Given the description of an element on the screen output the (x, y) to click on. 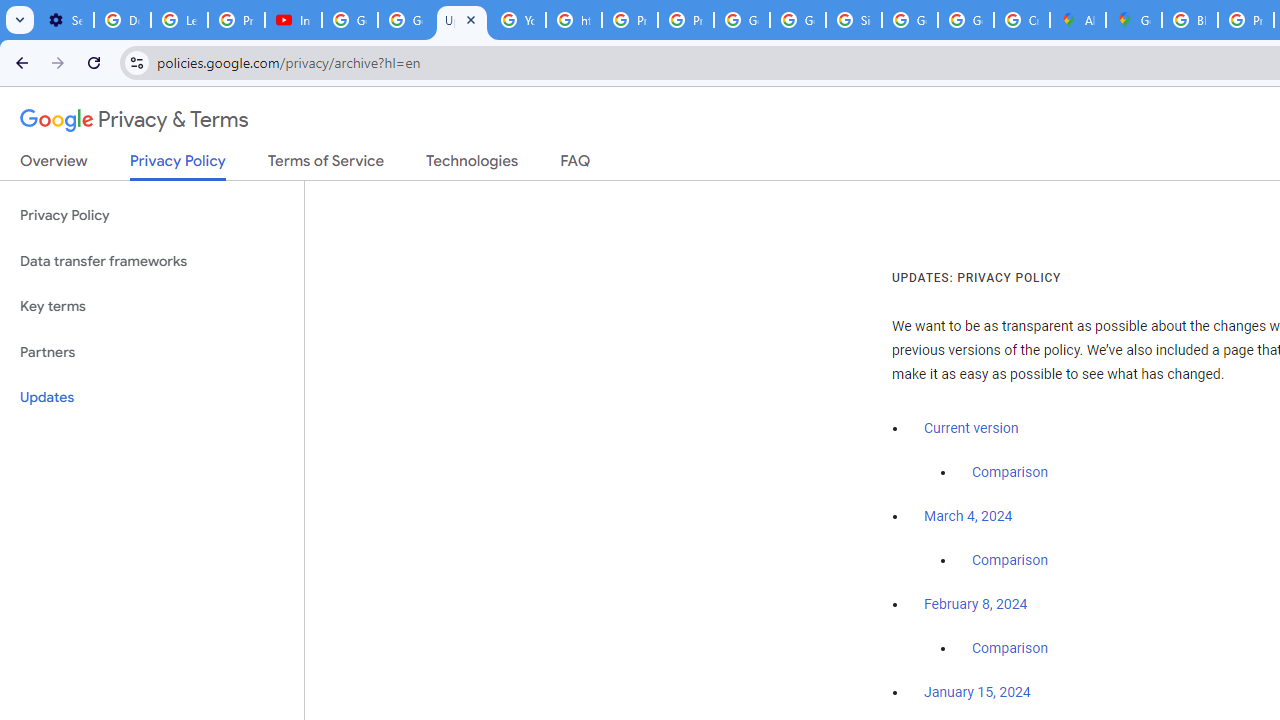
Blogger Policies and Guidelines - Transparency Center (1190, 20)
January 15, 2024 (977, 693)
Key terms (152, 306)
Partners (152, 352)
Learn how to find your photos - Google Photos Help (179, 20)
Settings - Customize profile (65, 20)
